Given the description of an element on the screen output the (x, y) to click on. 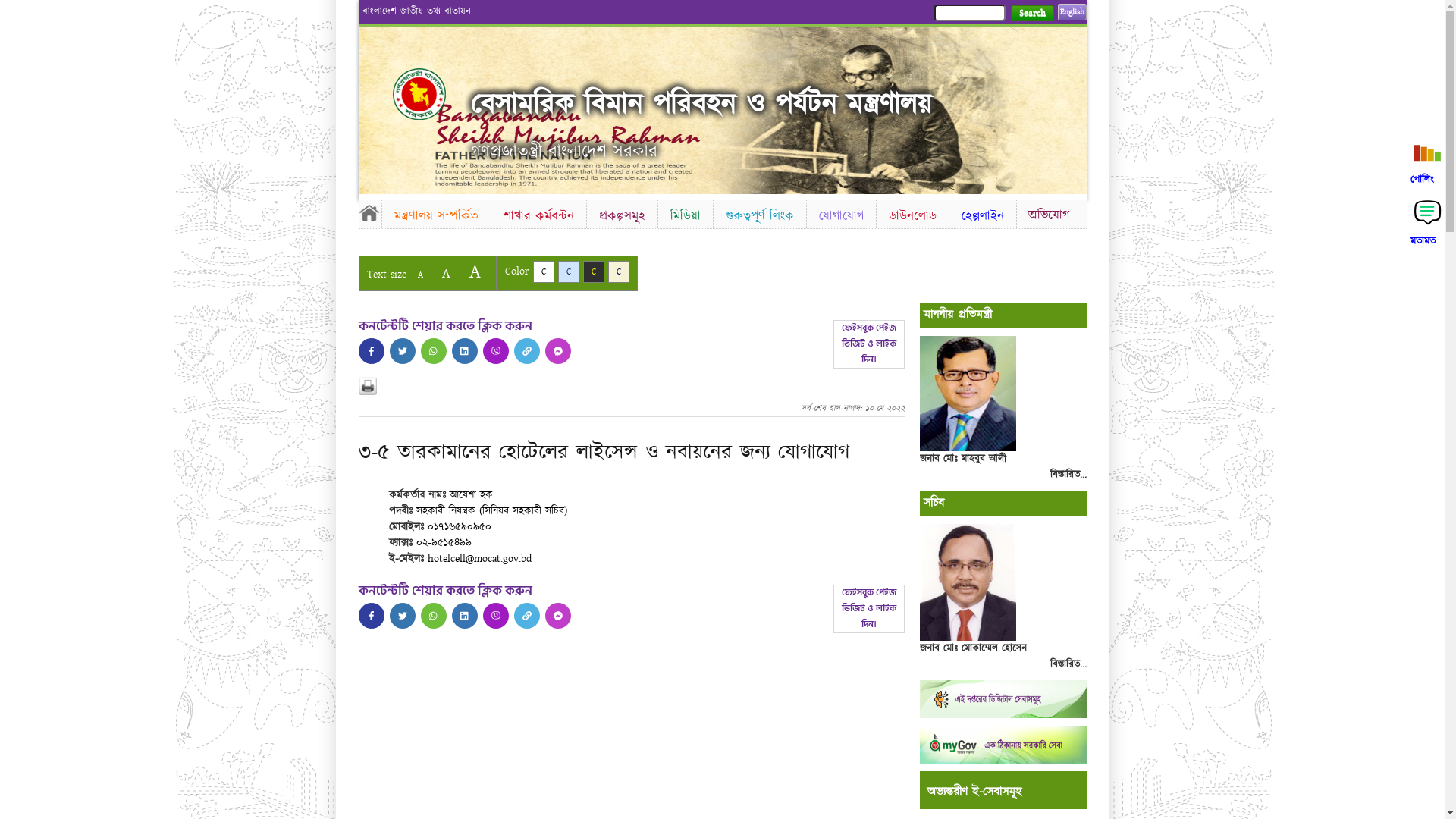
C Element type: text (592, 271)
A Element type: text (474, 271)
C Element type: text (568, 271)
A Element type: text (419, 274)
A Element type: text (445, 273)
C Element type: text (618, 271)
Home Element type: hover (368, 211)
English Element type: text (1071, 11)
Home Element type: hover (431, 93)
Search Element type: text (1031, 13)
C Element type: text (542, 271)
